Given the description of an element on the screen output the (x, y) to click on. 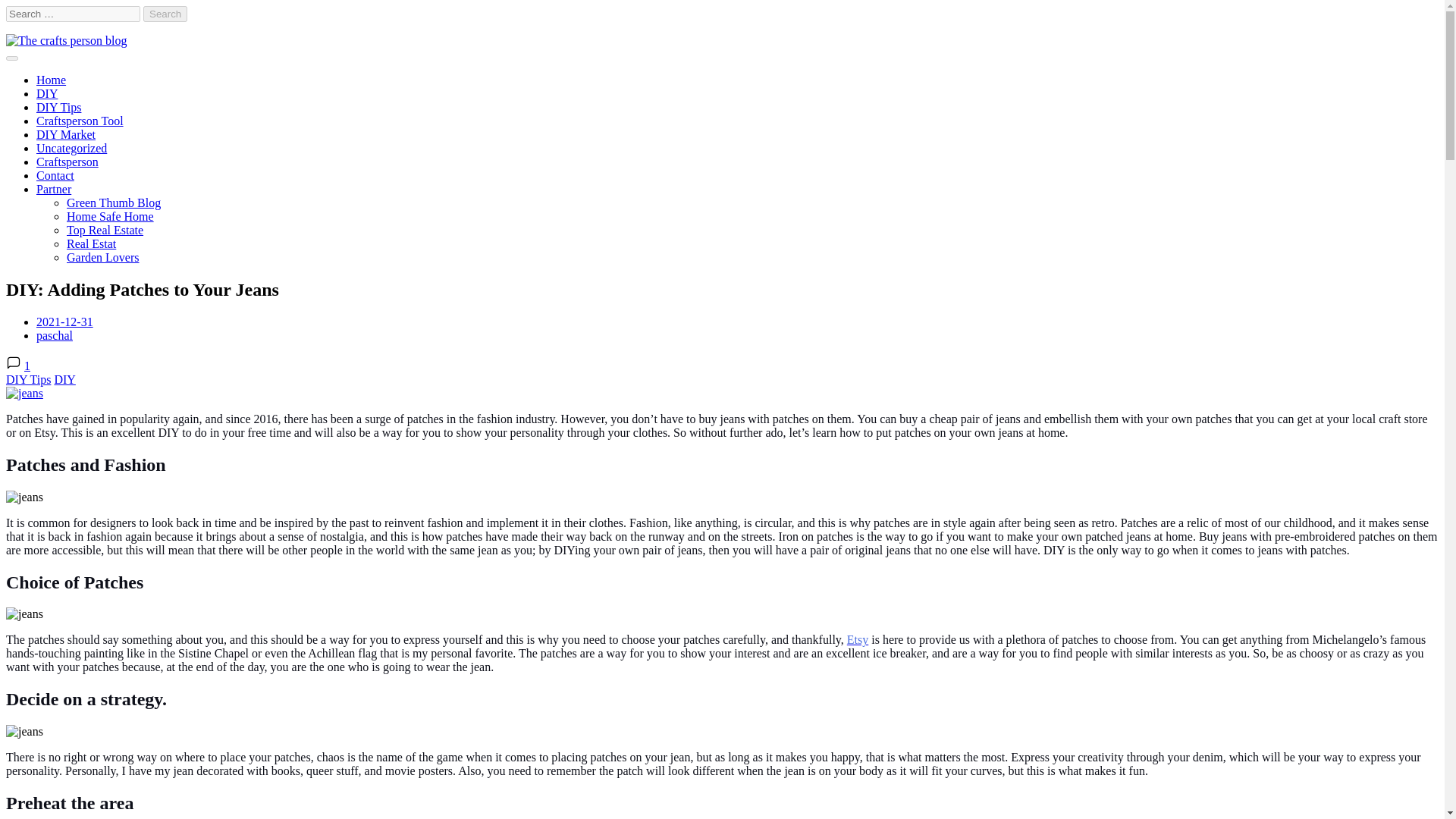
Craftsperson Tool (79, 120)
DIY (47, 92)
Green Thumb Blog (113, 202)
Partner (53, 188)
Real Estat (91, 243)
Search (164, 13)
DIY (64, 379)
Search (164, 13)
DIY Tips (27, 379)
DIY Market (66, 133)
